Given the description of an element on the screen output the (x, y) to click on. 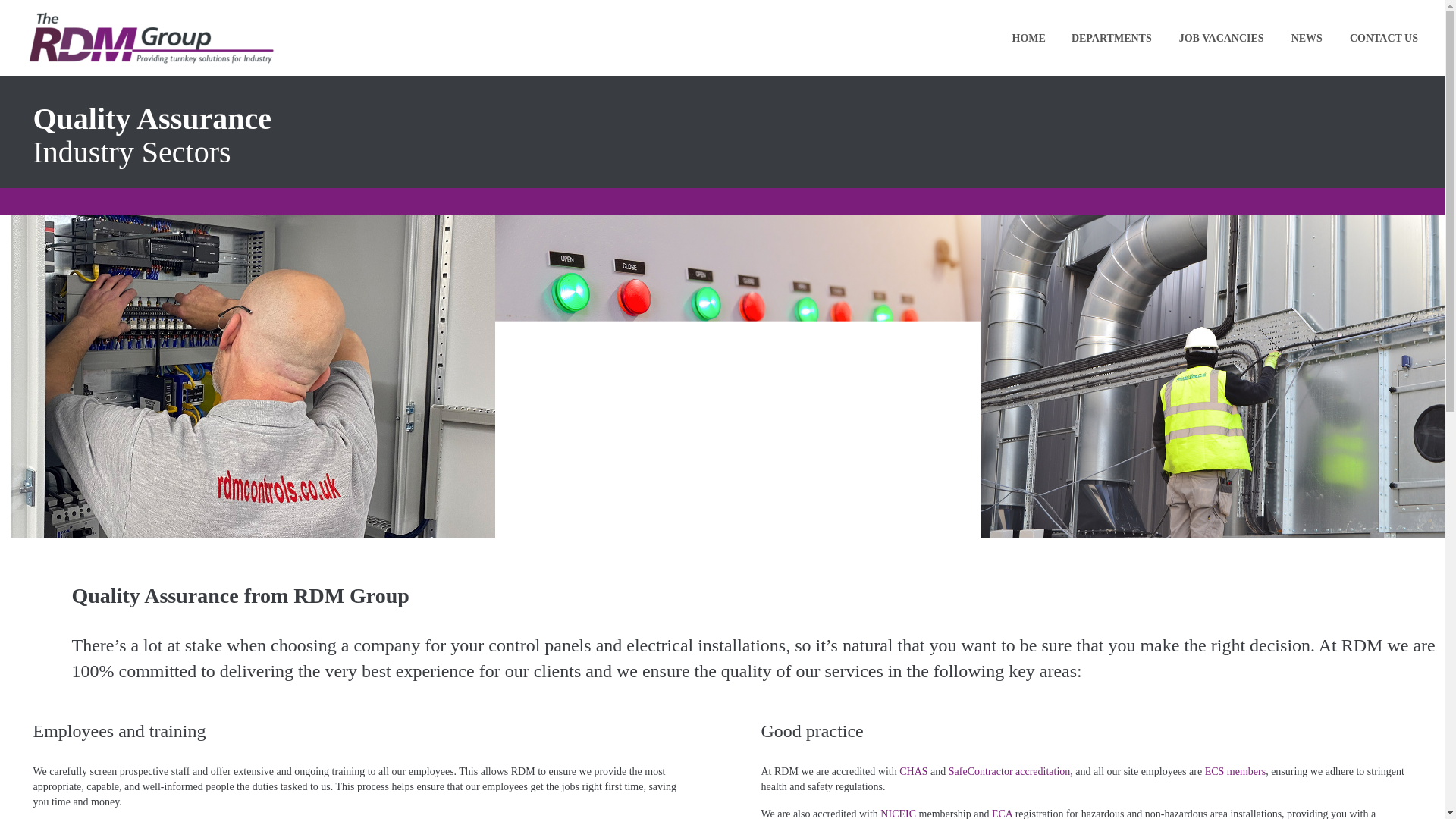
NEWS (1306, 37)
CHAS (913, 771)
CONTACT US (1383, 37)
HOME (1029, 37)
SafeContractor accreditation (1009, 771)
ECS members (1235, 771)
DEPARTMENTS (1111, 37)
ECA (1001, 813)
